Given the description of an element on the screen output the (x, y) to click on. 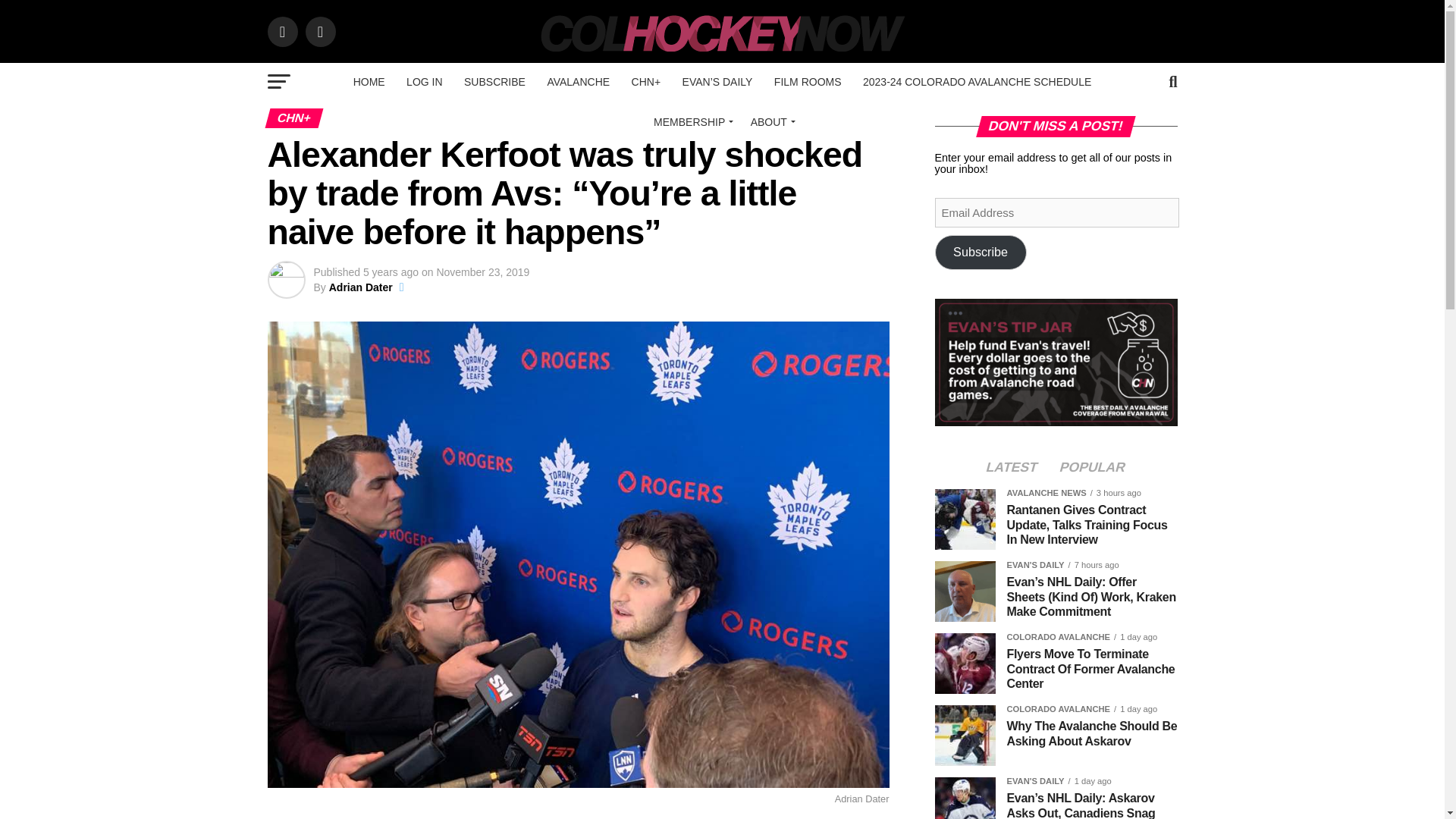
Posts by Adrian Dater (361, 287)
HOME (368, 81)
LOG IN (424, 81)
SUBSCRIBE (494, 81)
AVALANCHE (577, 81)
